Given the description of an element on the screen output the (x, y) to click on. 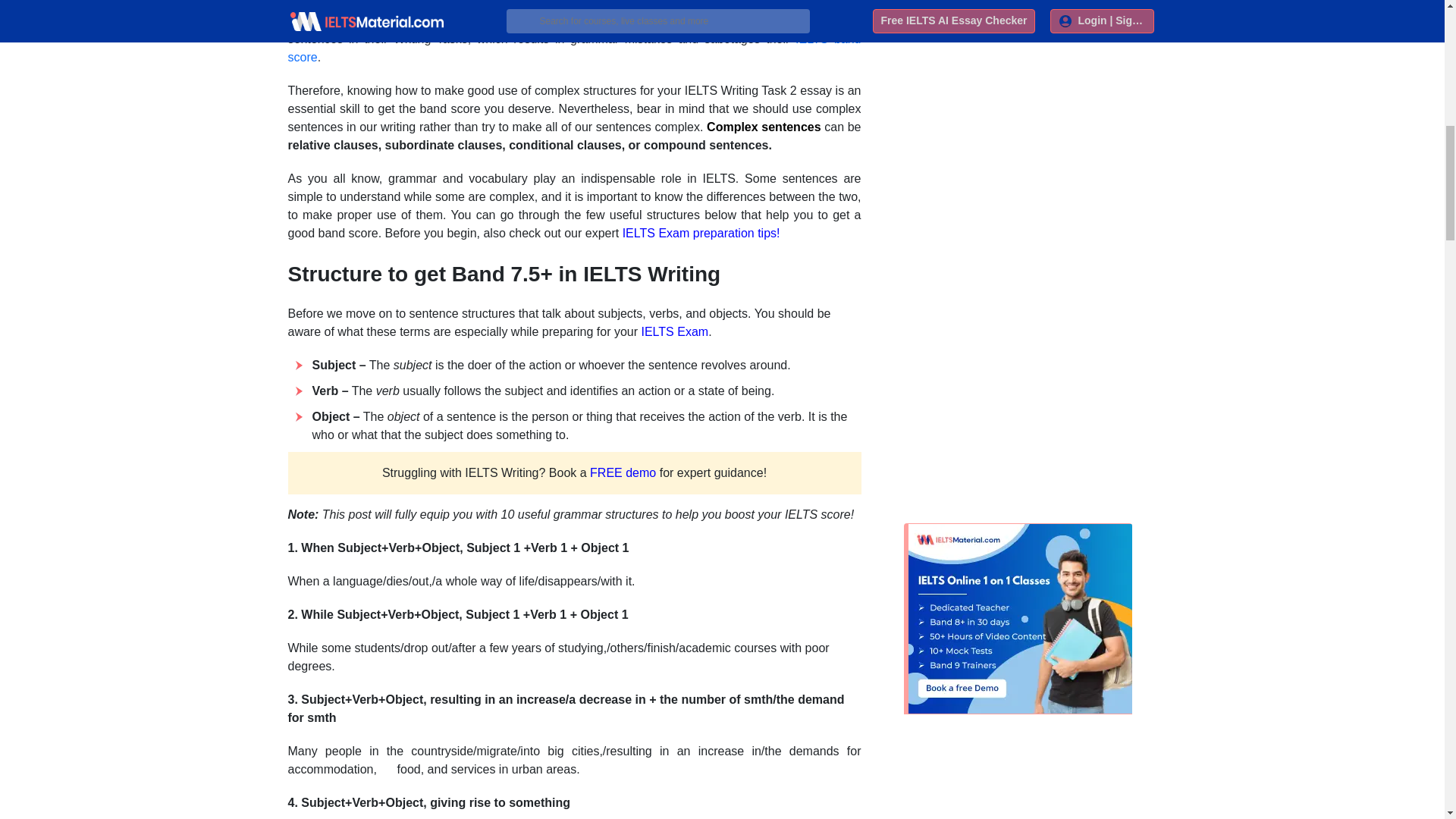
FREE demo (622, 472)
IELTS Exam (675, 331)
IELTS band score (574, 47)
IELTS Web Stories (979, 1)
IELTS Exam preparation tips! (701, 232)
IELTS writing (691, 20)
